Given the description of an element on the screen output the (x, y) to click on. 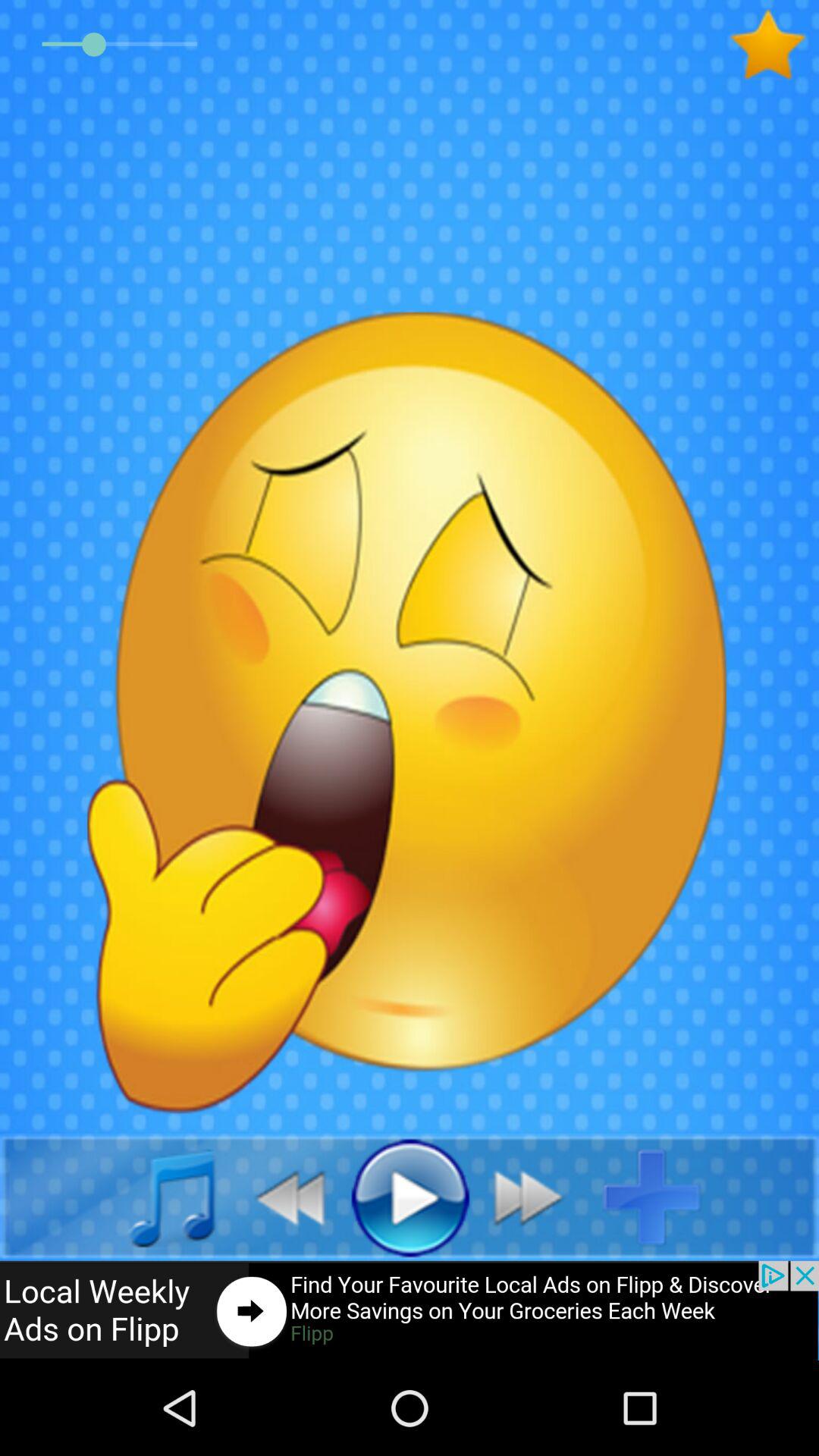
go to previous (281, 1196)
